Given the description of an element on the screen output the (x, y) to click on. 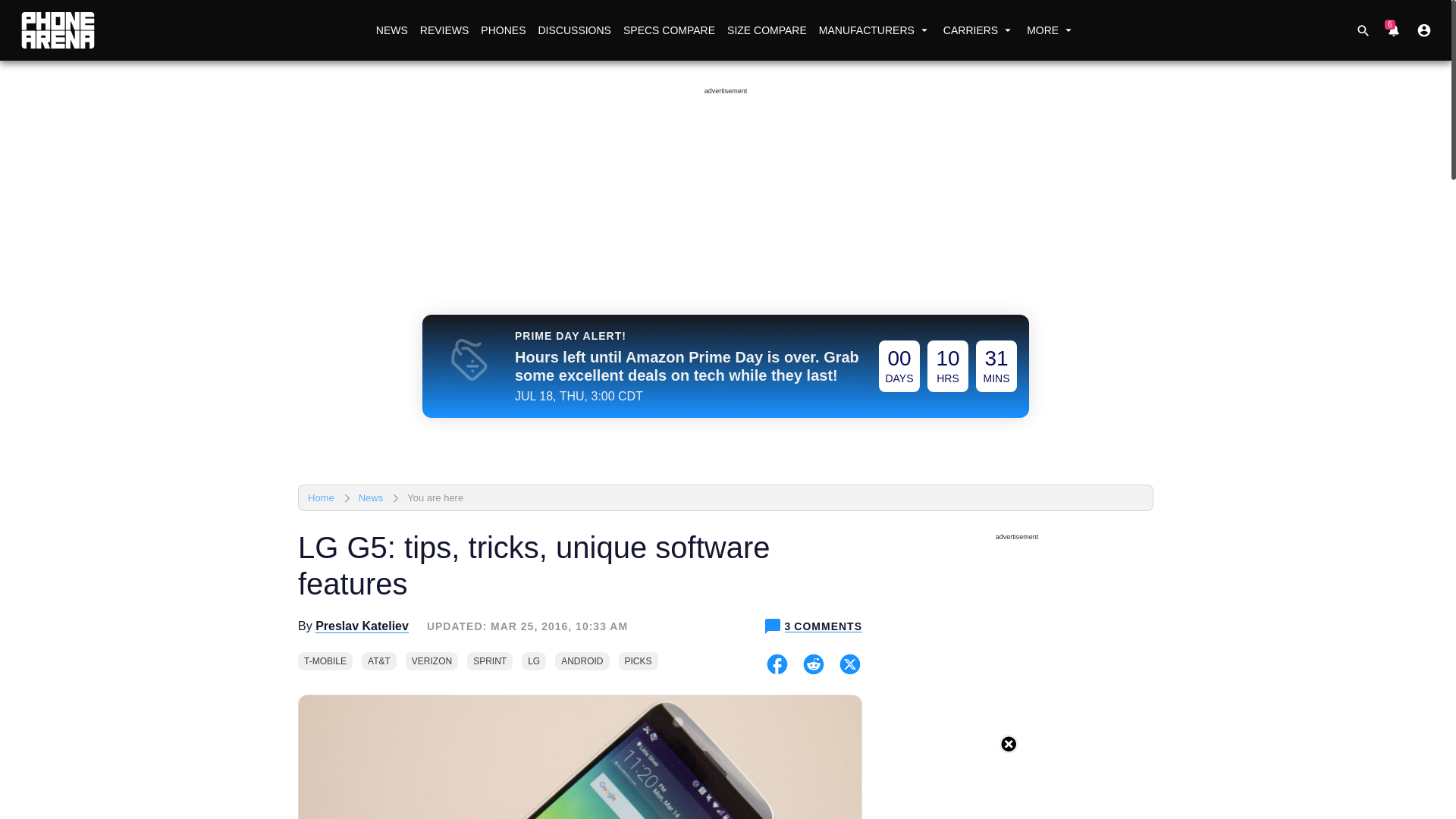
3rd party ad content (1016, 683)
CARRIERS (978, 30)
PHONES (502, 30)
DISCUSSIONS (573, 30)
3rd party ad content (725, 136)
MANUFACTURERS (874, 30)
SIZE COMPARE (766, 30)
REVIEWS (444, 30)
NEWS (391, 30)
SPECS COMPARE (668, 30)
MORE (1050, 30)
3rd party ad content (728, 785)
